Given the description of an element on the screen output the (x, y) to click on. 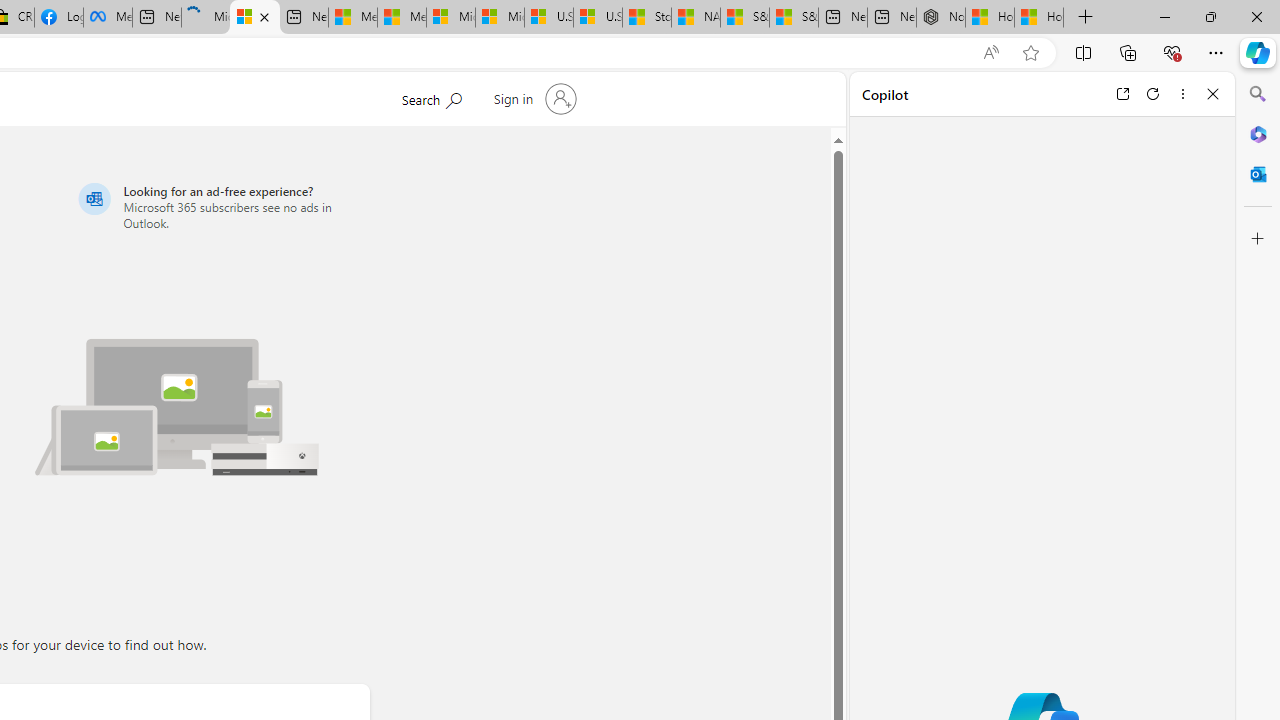
Log into Facebook (58, 17)
Illustration of multiple devices (177, 406)
Outlook (1258, 174)
